Given the description of an element on the screen output the (x, y) to click on. 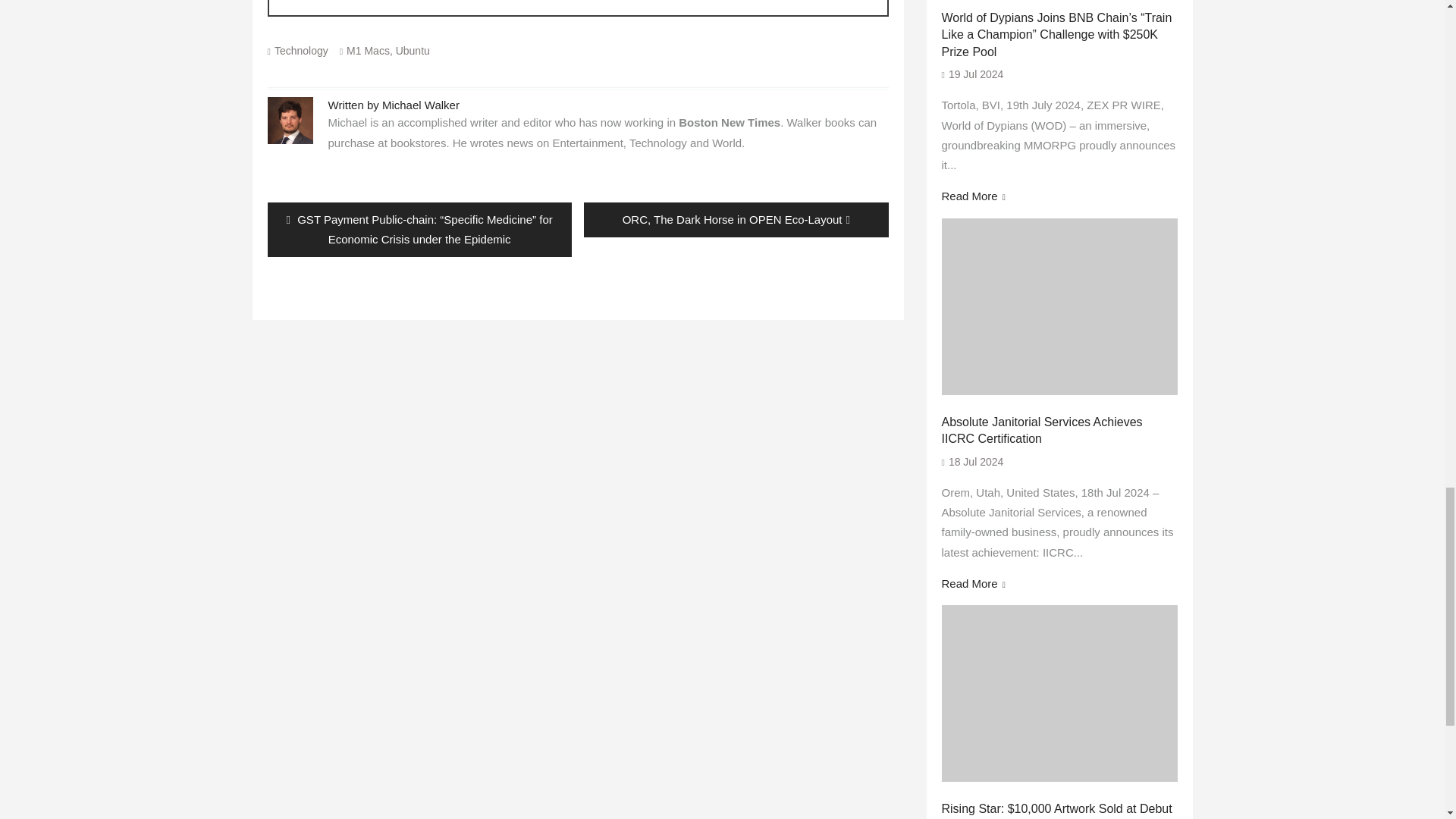
Ubuntu (412, 50)
Posts by Michael Walker (420, 104)
M1 Macs (368, 50)
Technology (302, 50)
